Given the description of an element on the screen output the (x, y) to click on. 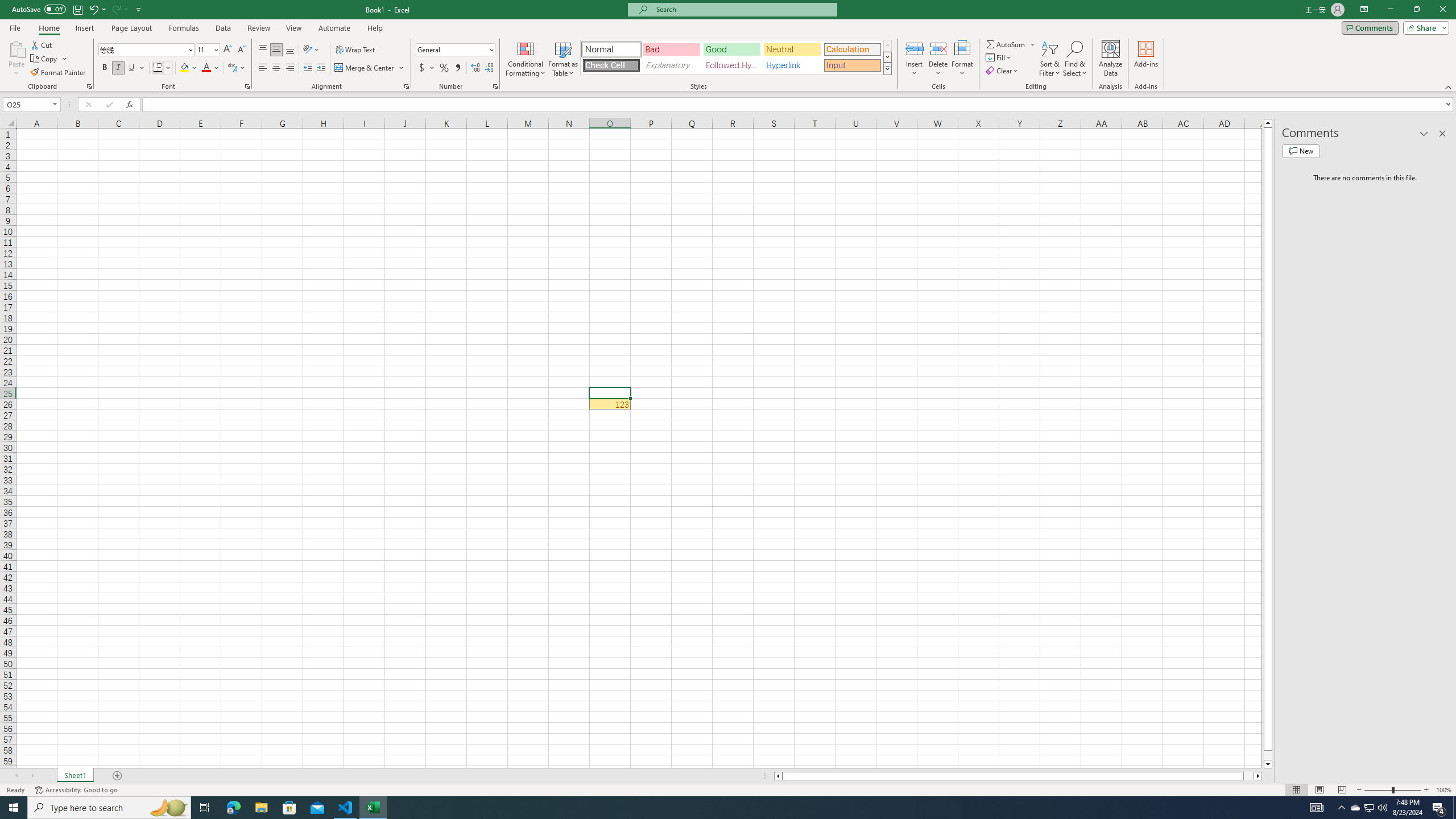
Font Color RGB(255, 0, 0) (206, 67)
Neutral (791, 49)
Explanatory Text (671, 65)
Bold (104, 67)
